Given the description of an element on the screen output the (x, y) to click on. 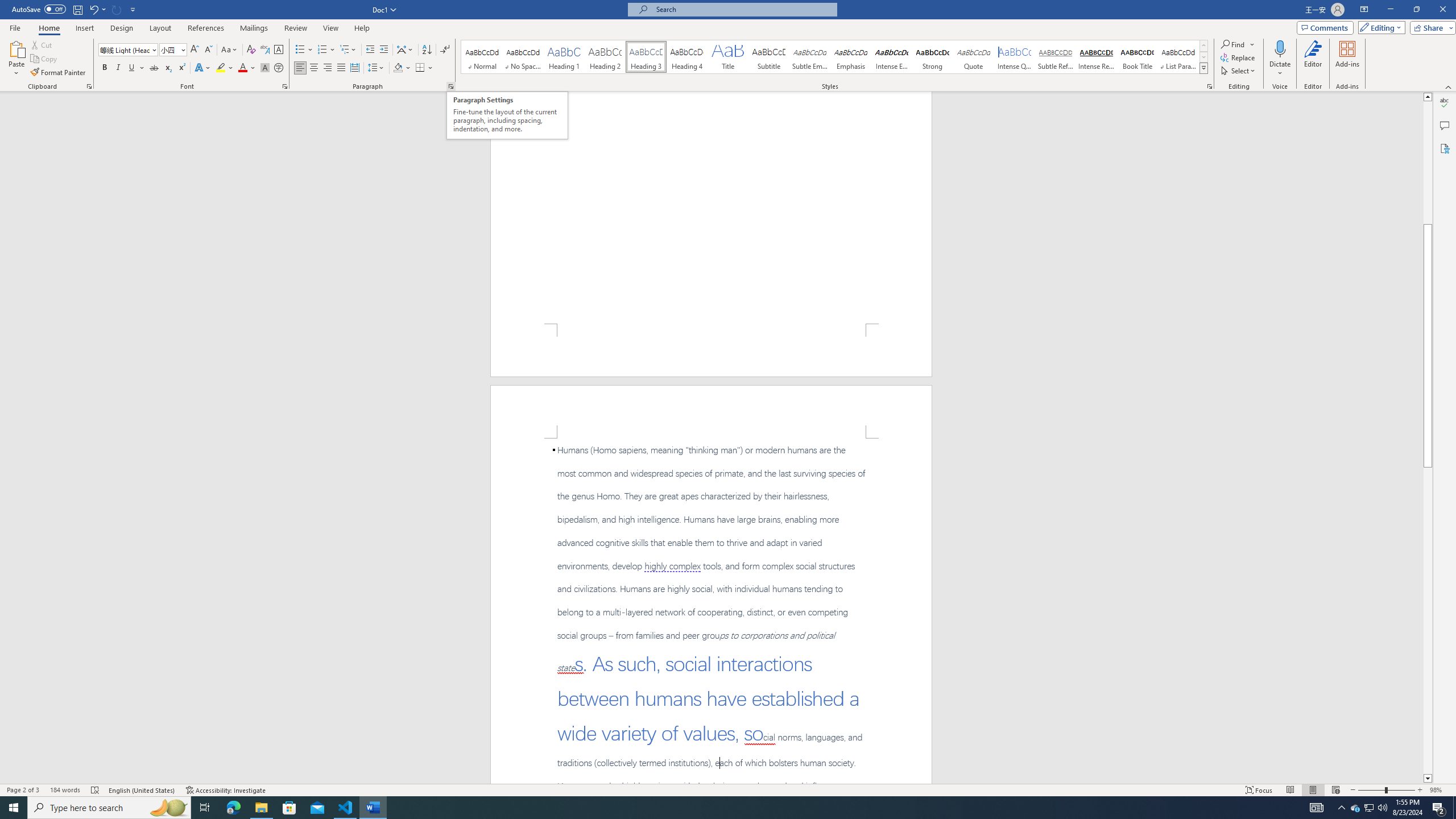
AutomationID: QuickStylesGallery (834, 56)
Grow Font (193, 49)
Font Color Blue-Gray, Text 2 (241, 67)
Subtle Reference (1055, 56)
Heading 2 (605, 56)
Heading 4 (686, 56)
Intense Quote (1014, 56)
